Given the description of an element on the screen output the (x, y) to click on. 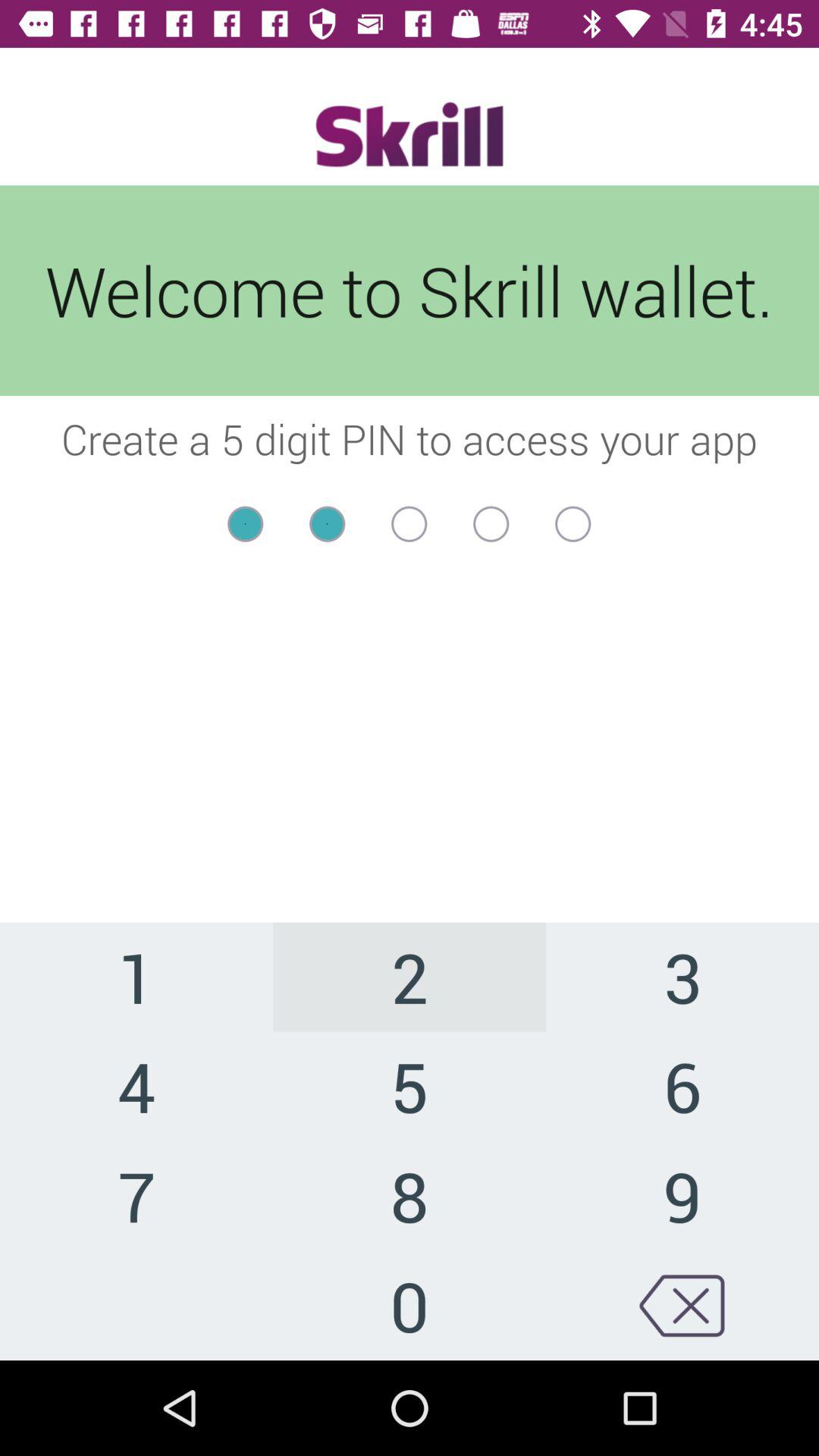
delete last character (682, 1305)
